Given the description of an element on the screen output the (x, y) to click on. 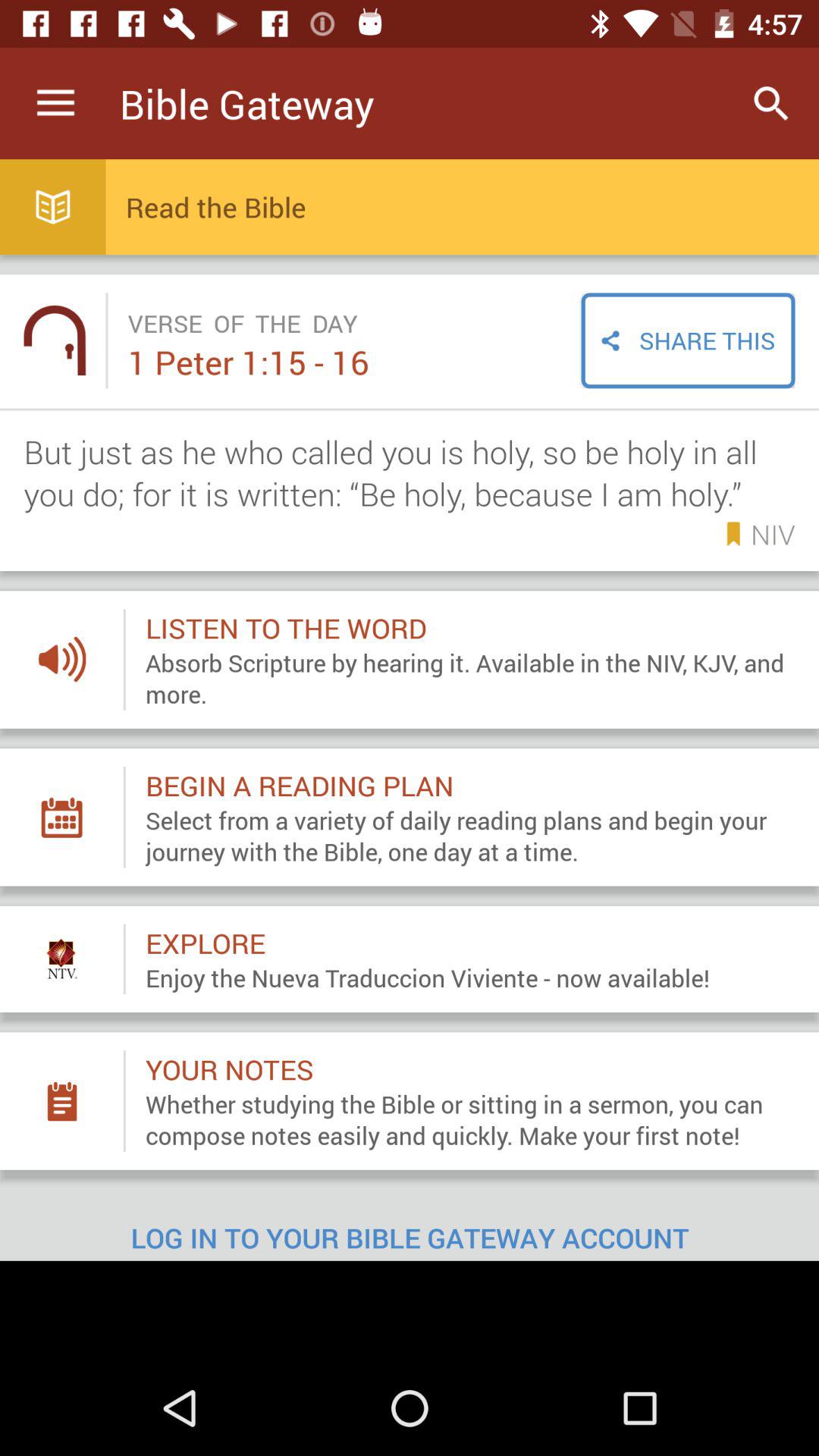
swipe until share this item (688, 340)
